Given the description of an element on the screen output the (x, y) to click on. 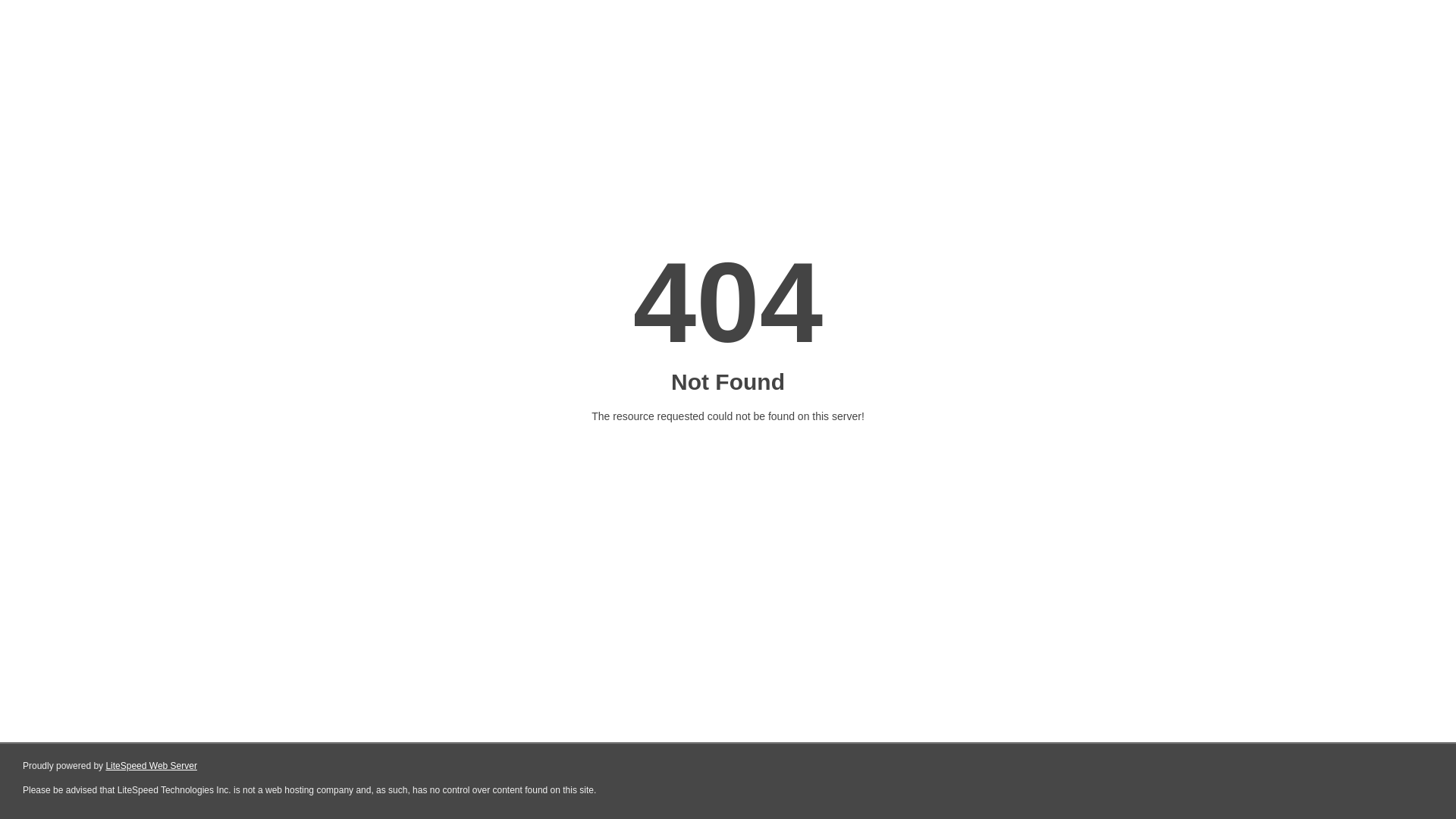
LiteSpeed Web Server Element type: text (151, 765)
